Given the description of an element on the screen output the (x, y) to click on. 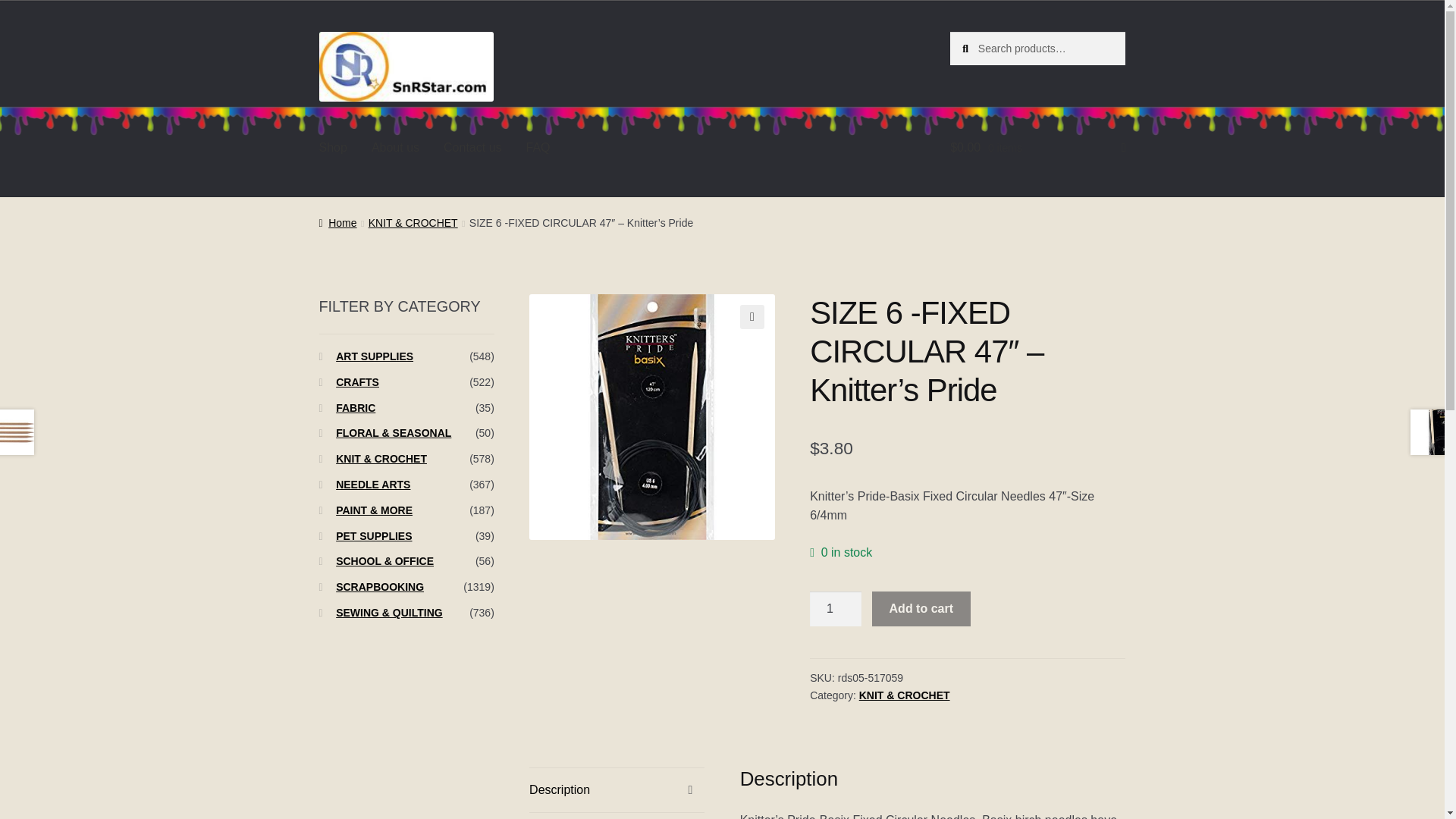
Add to cart (921, 608)
About us (394, 148)
Home (337, 223)
Shop (333, 148)
SIZE 6 -FIXED CIRCULAR 47" - Knitter's Pride (651, 416)
View your shopping cart (1037, 148)
FAQ (537, 148)
Qty (835, 608)
1 (835, 608)
Contact us (471, 148)
